Given the description of an element on the screen output the (x, y) to click on. 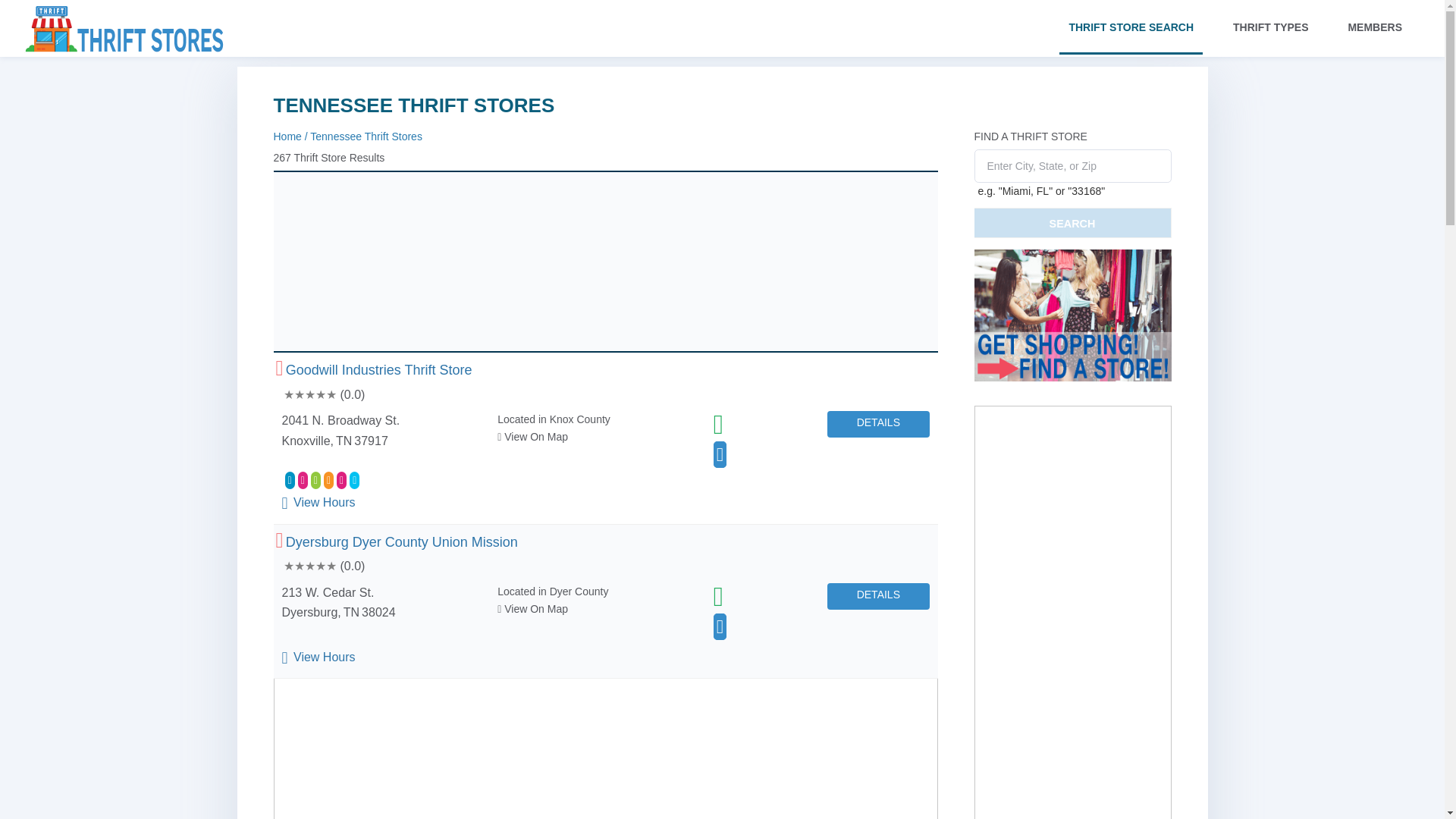
THRIFT STORE SEARCH (1130, 27)
thrift stores (124, 40)
